Given the description of an element on the screen output the (x, y) to click on. 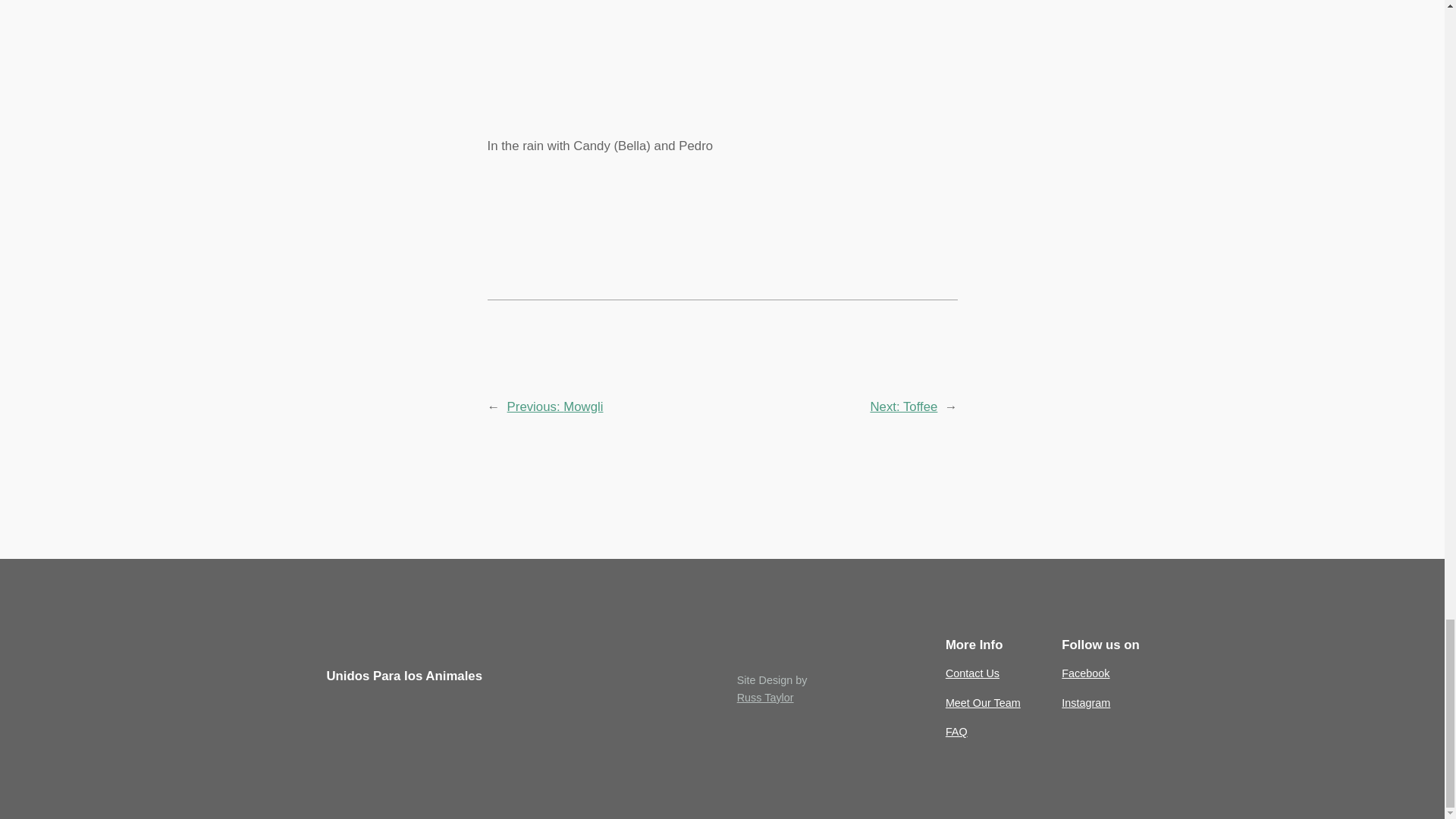
Previous: Mowgli (555, 406)
Instagram (1085, 702)
Next: Toffee (903, 406)
Contact Us (971, 673)
Unidos Para los Animales (403, 676)
Facebook (1085, 673)
Russ Taylor (764, 697)
FAQ (956, 731)
Meet Our Team (982, 702)
